Given the description of an element on the screen output the (x, y) to click on. 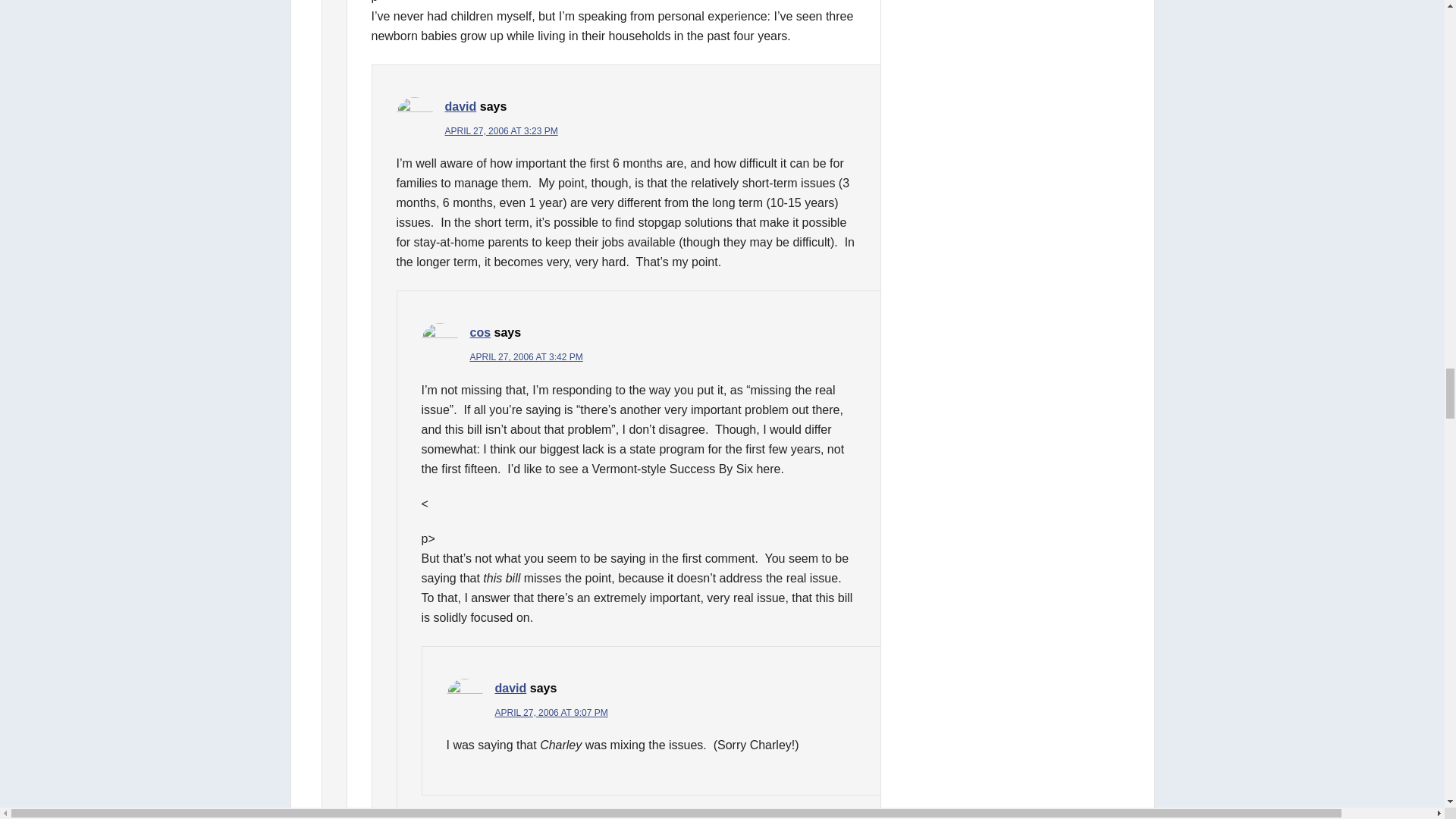
david (460, 106)
